Given the description of an element on the screen output the (x, y) to click on. 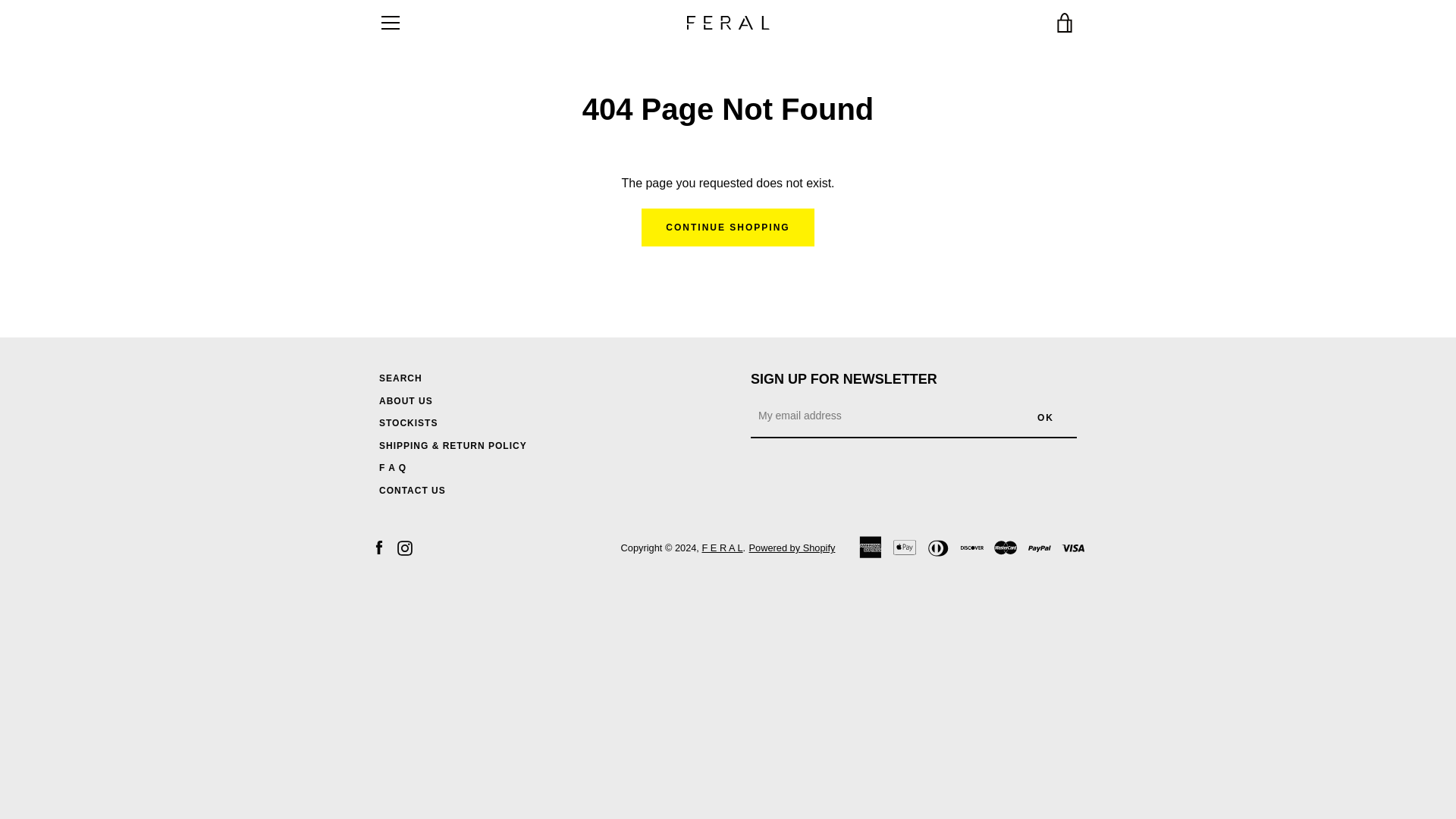
Ok (1045, 417)
SEARCH (400, 378)
Facebook (379, 546)
ABOUT US (405, 400)
STOCKISTS (408, 422)
VIEW CART (1065, 22)
Instagram (404, 546)
F A Q (392, 467)
F E R A L (721, 547)
Ok (1045, 417)
CONTACT US (411, 490)
EXPAND NAVIGATION (390, 22)
Powered by Shopify (792, 547)
CONTINUE SHOPPING (727, 227)
